Given the description of an element on the screen output the (x, y) to click on. 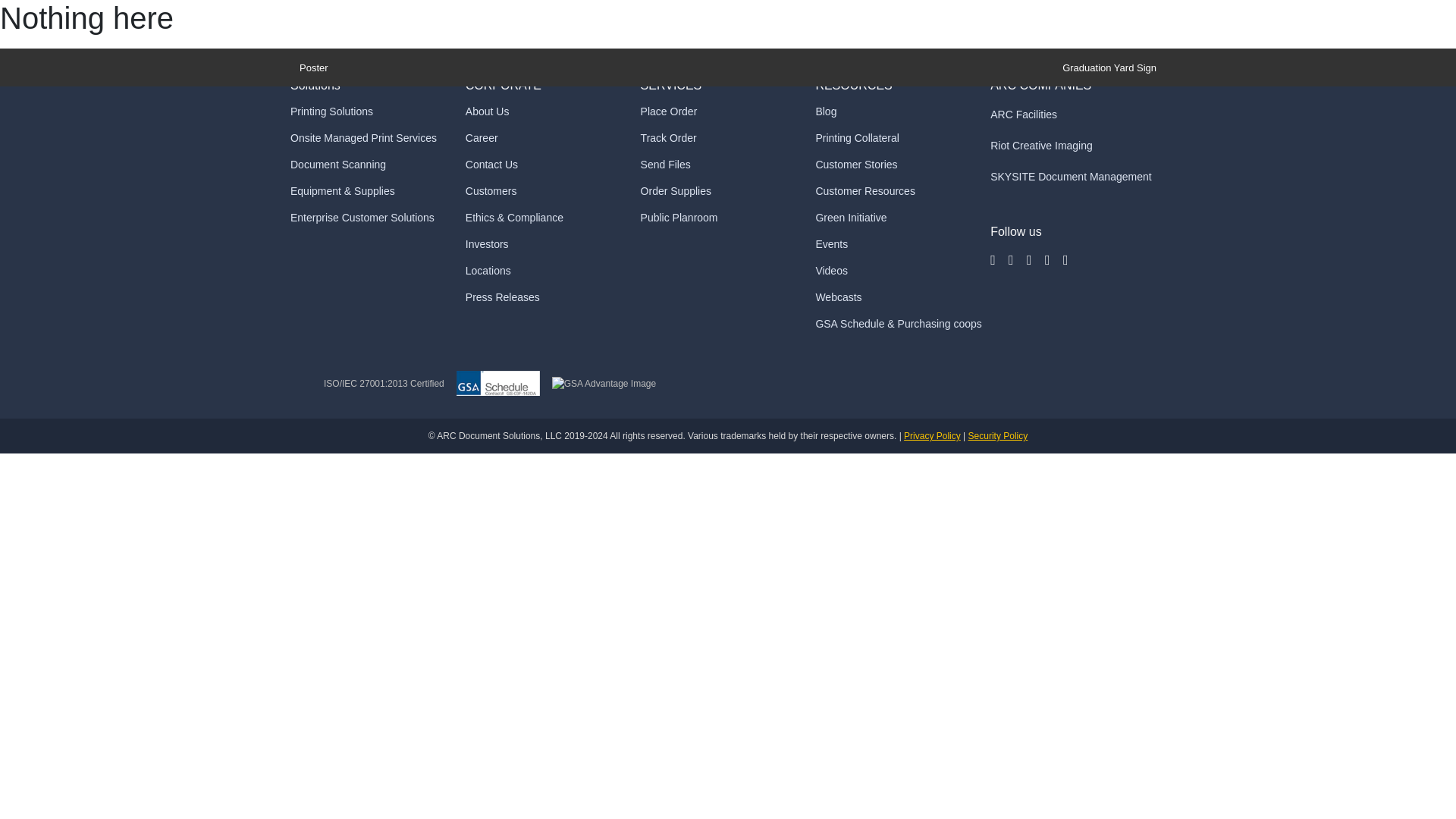
Locations (488, 270)
Track Order (668, 138)
Place Order (668, 111)
ARC Facilities (1023, 114)
Order Supplies (675, 191)
Riot Creative Imaging (1041, 145)
Customers (490, 191)
Green Initiative (850, 217)
Videos (831, 270)
Onsite Managed Print Services (362, 138)
